Given the description of an element on the screen output the (x, y) to click on. 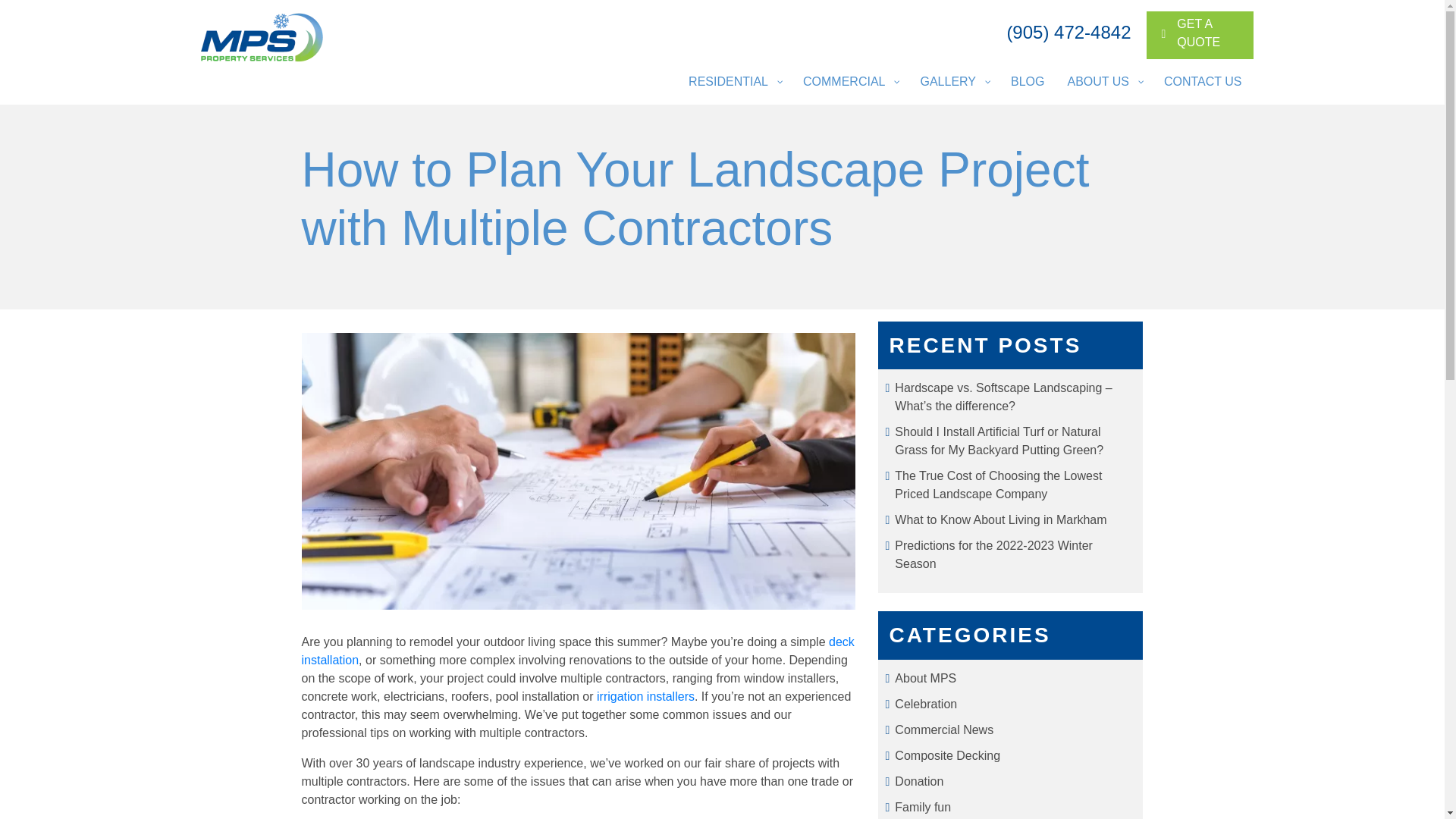
RESIDENTIAL (734, 81)
irrigation installers (645, 696)
ABOUT US (1104, 81)
GALLERY (953, 81)
CONTACT US (1200, 34)
deck installation (1203, 81)
BLOG (577, 650)
COMMERCIAL (1026, 81)
